Given the description of an element on the screen output the (x, y) to click on. 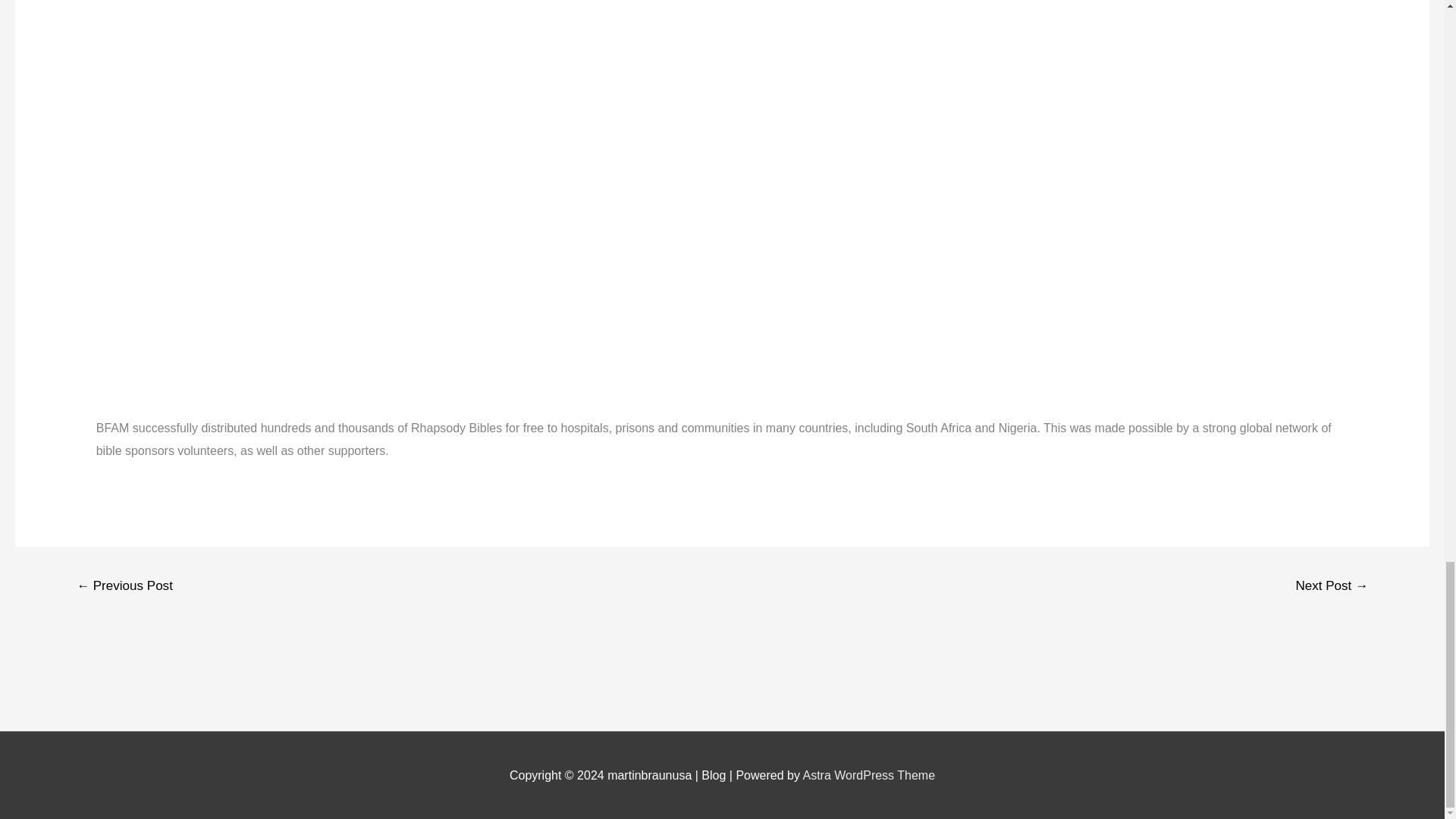
Astra WordPress Theme (868, 775)
